Given the description of an element on the screen output the (x, y) to click on. 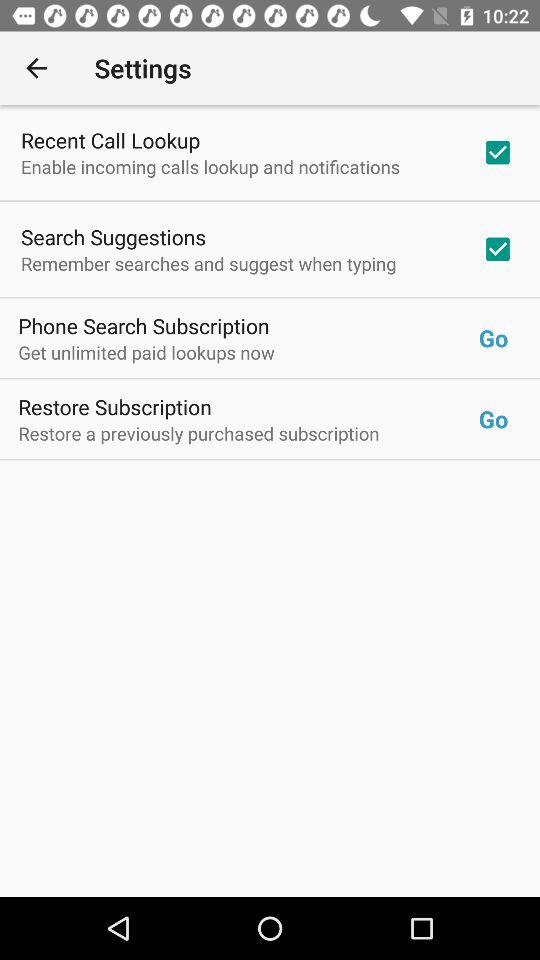
scroll to the restore a previously (248, 433)
